Given the description of an element on the screen output the (x, y) to click on. 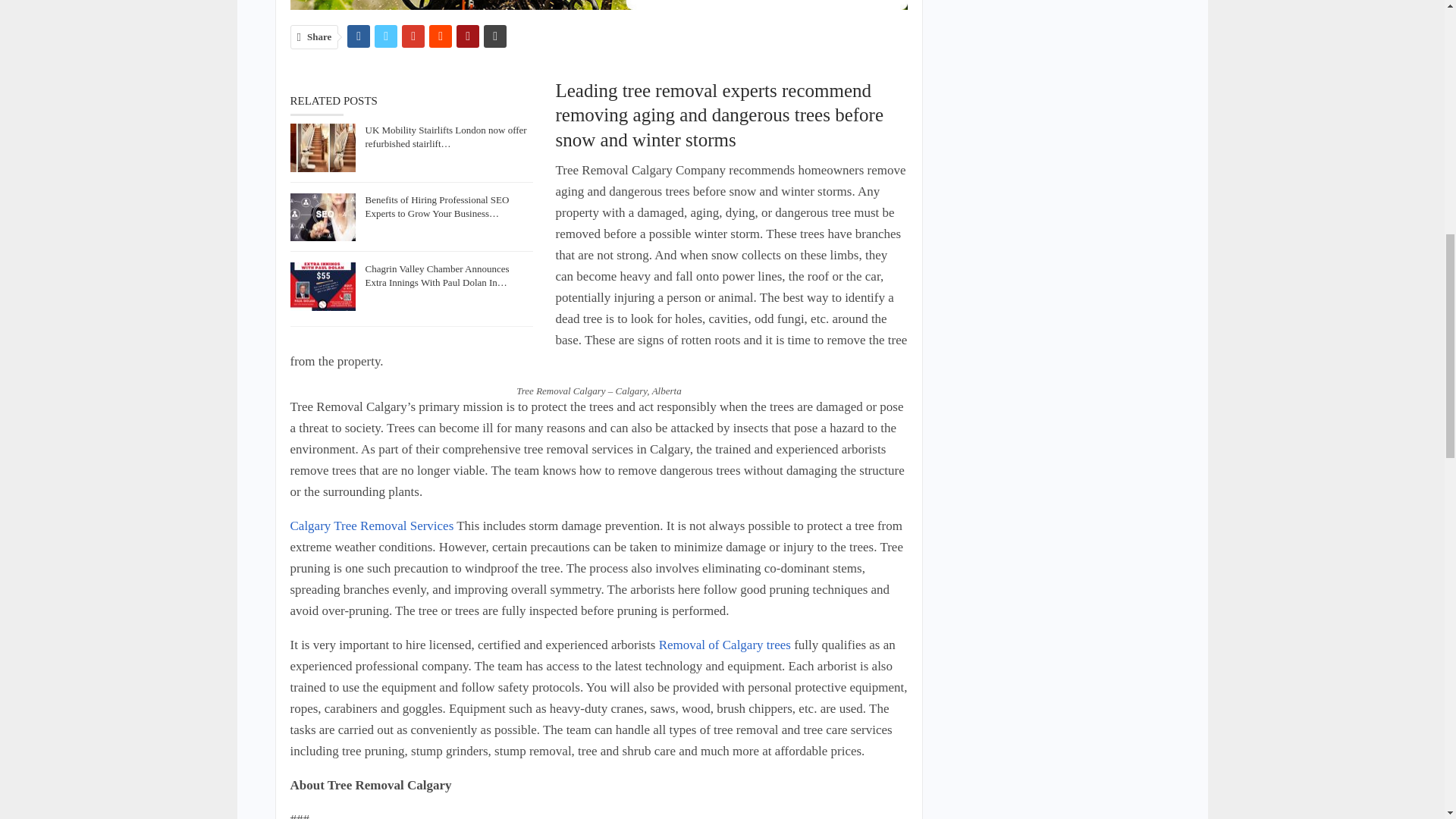
Removal of Calgary trees (724, 644)
Calgary Tree Removal Services (370, 525)
